Given the description of an element on the screen output the (x, y) to click on. 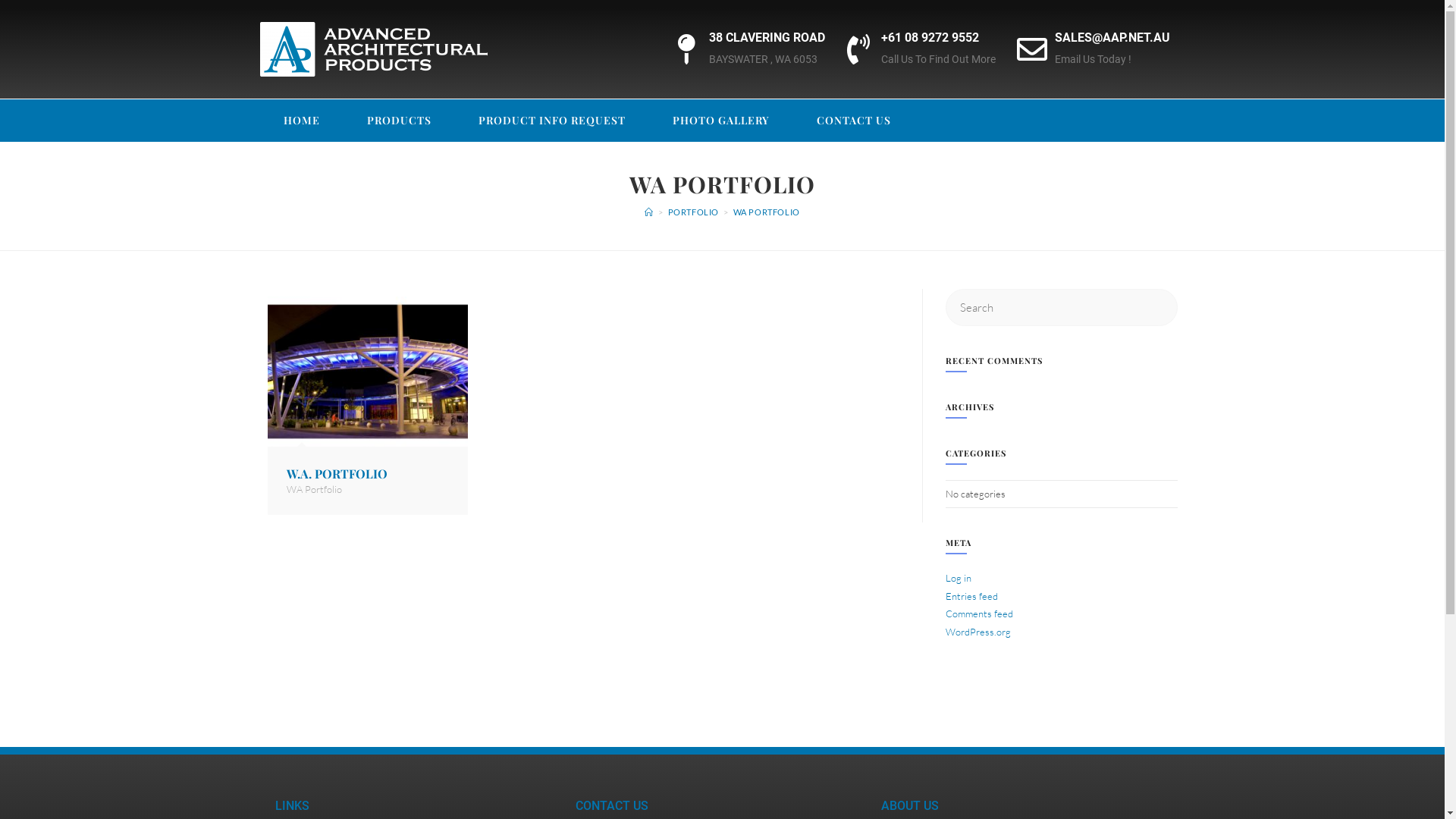
WA Portfolio Element type: text (314, 489)
PORTFOLIO Element type: text (692, 211)
WA PORTFOLIO Element type: text (766, 211)
PRODUCTS Element type: text (398, 120)
CONTACT US Element type: text (853, 120)
PRODUCT INFO REQUEST Element type: text (552, 120)
Entries feed Element type: text (970, 595)
WordPress.org Element type: text (977, 631)
CONTACT US Element type: text (610, 805)
W.A. PORTFOLIO Element type: text (336, 473)
Comments feed Element type: text (978, 613)
HOME Element type: text (300, 120)
Log in Element type: text (957, 577)
SALES@AAP.NET.AU Element type: text (1112, 37)
PHOTO GALLERY Element type: text (721, 120)
+61 08 9272 9552 Element type: text (930, 37)
ABOUT US Element type: text (909, 805)
